Given the description of an element on the screen output the (x, y) to click on. 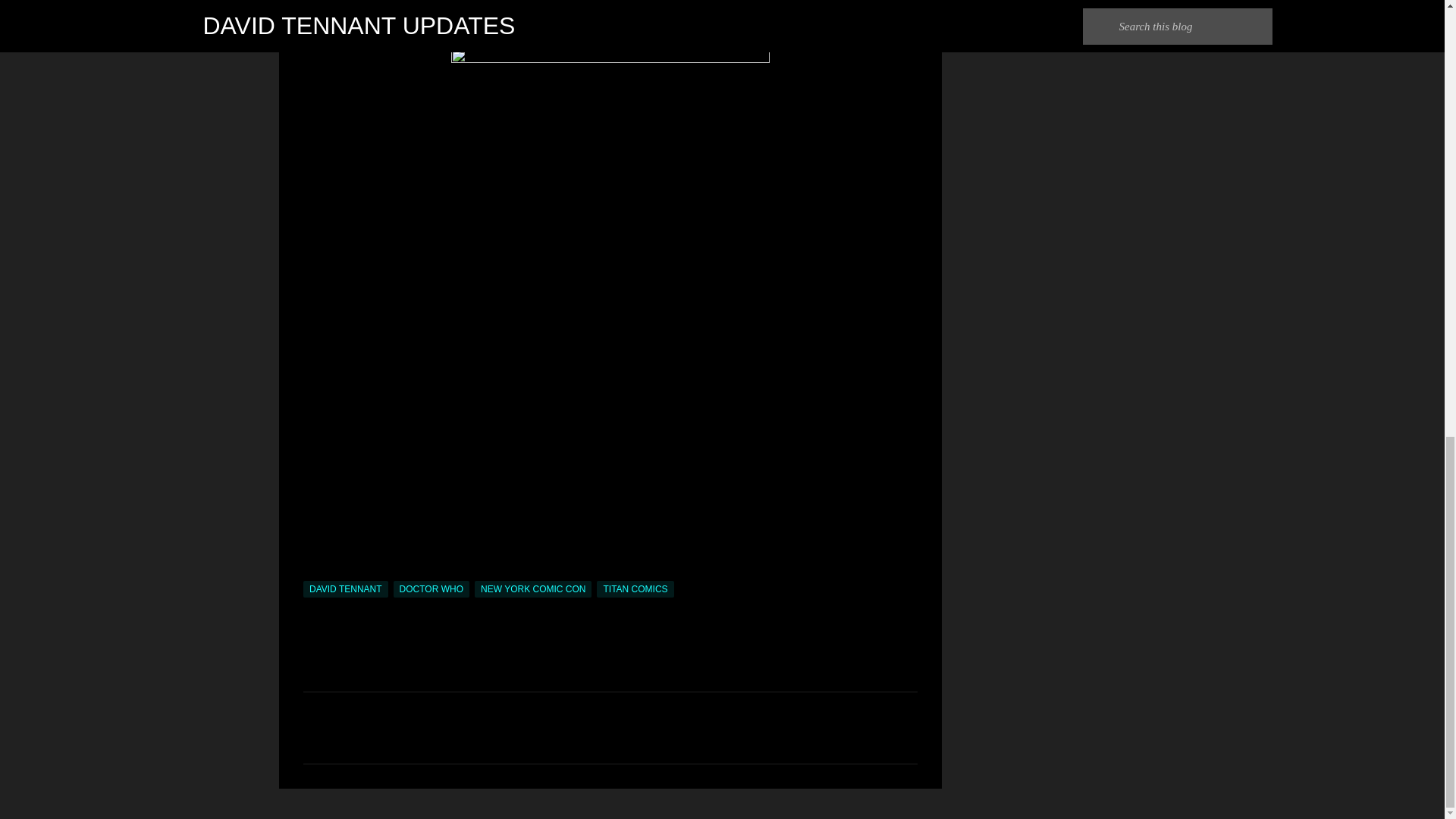
DOCTOR WHO (430, 588)
NEW YORK COMIC CON (532, 588)
Email Post (311, 571)
TITAN COMICS (634, 588)
DAVID TENNANT (345, 588)
